Given the description of an element on the screen output the (x, y) to click on. 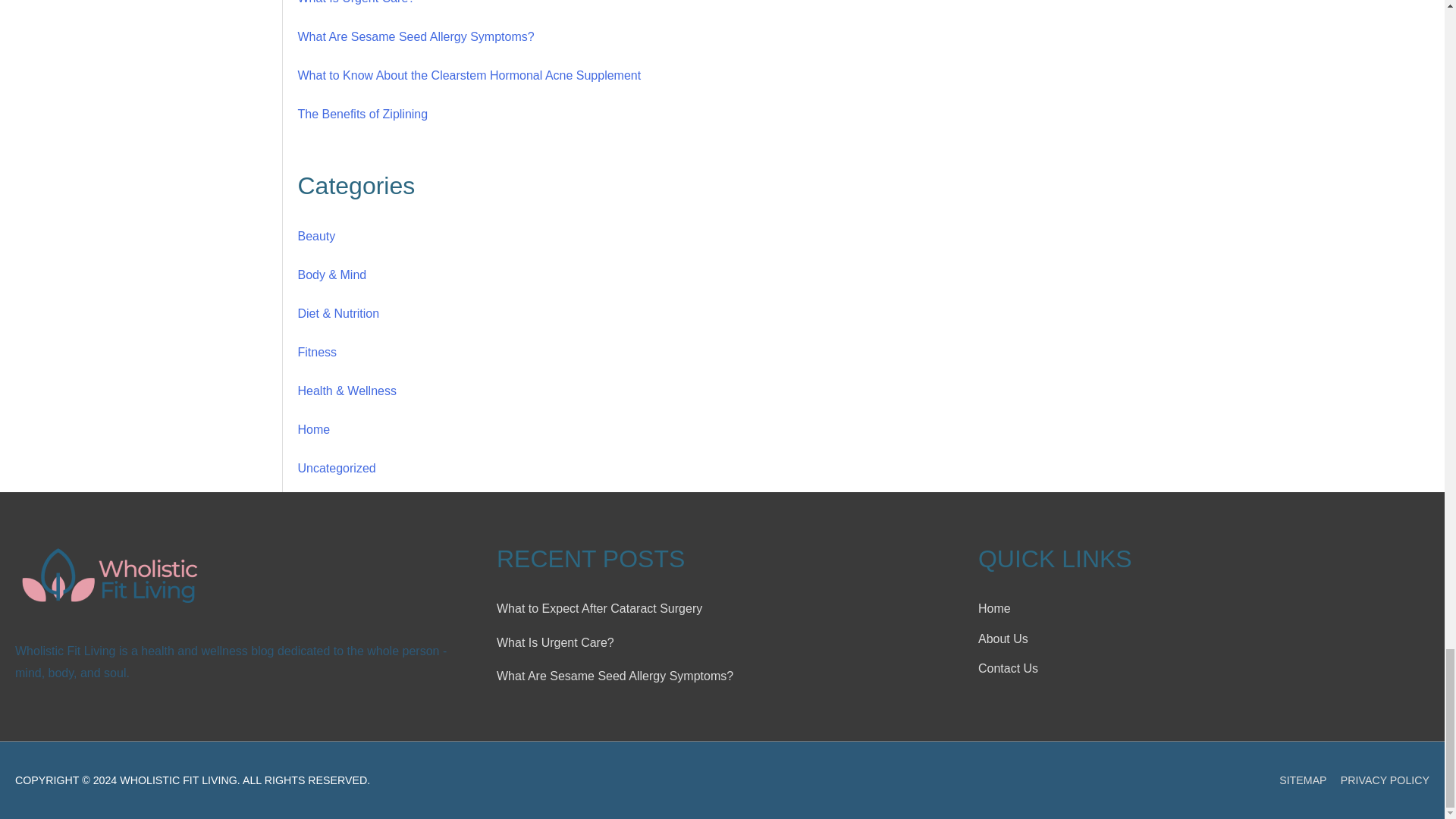
What Is Urgent Care? (355, 2)
What Are Sesame Seed Allergy Symptoms? (415, 36)
